Given the description of an element on the screen output the (x, y) to click on. 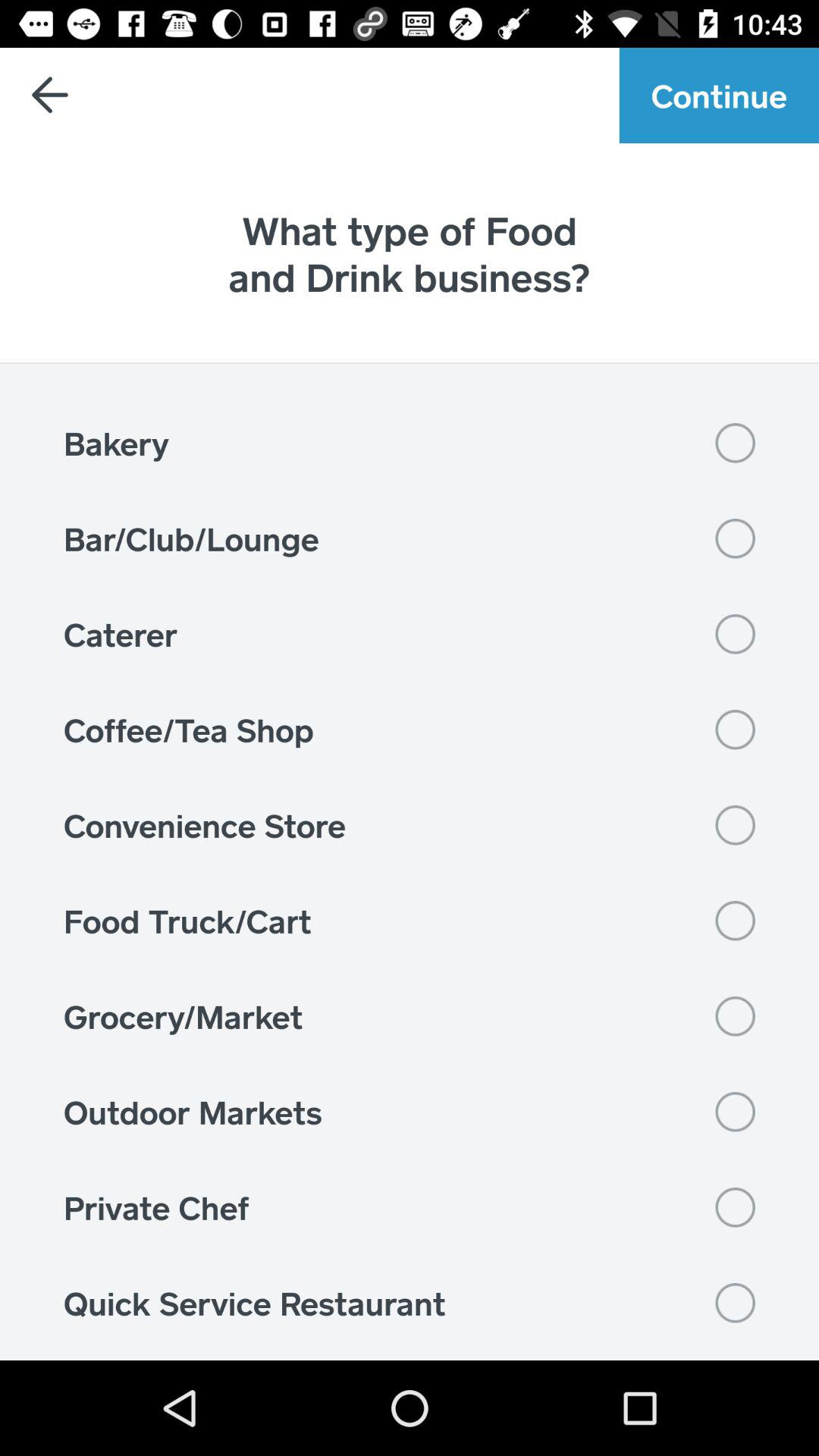
turn off the icon above the convenience store item (409, 729)
